Given the description of an element on the screen output the (x, y) to click on. 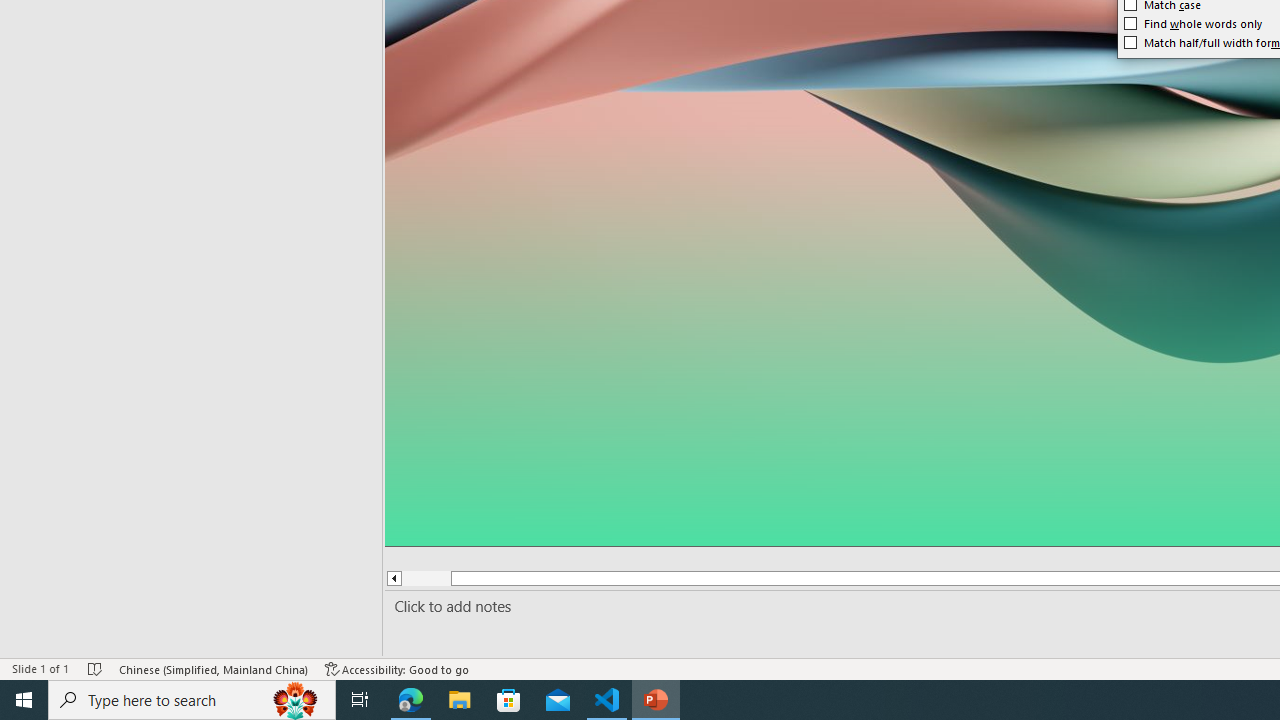
Find whole words only (1193, 23)
